Given the description of an element on the screen output the (x, y) to click on. 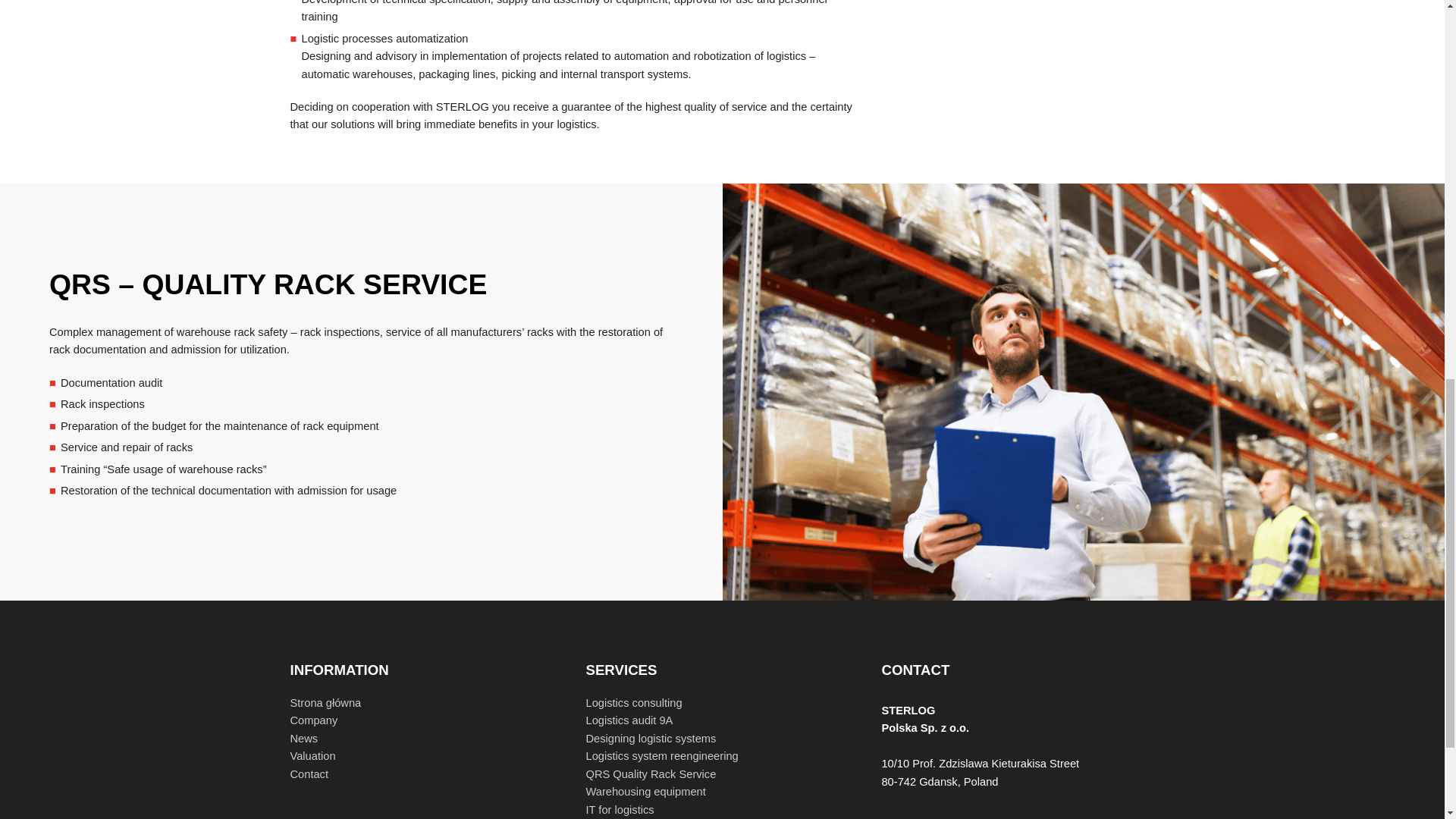
IT for logistics (619, 809)
Company (313, 720)
Warehousing equipment (644, 791)
Logistics audit 9A (628, 720)
Contact (309, 774)
Designing logistic systems (650, 738)
Logistics consulting (633, 702)
Valuation (311, 756)
QRS Quality Rack Service (650, 774)
News (303, 738)
Logistics system reengineering (661, 756)
